Given the description of an element on the screen output the (x, y) to click on. 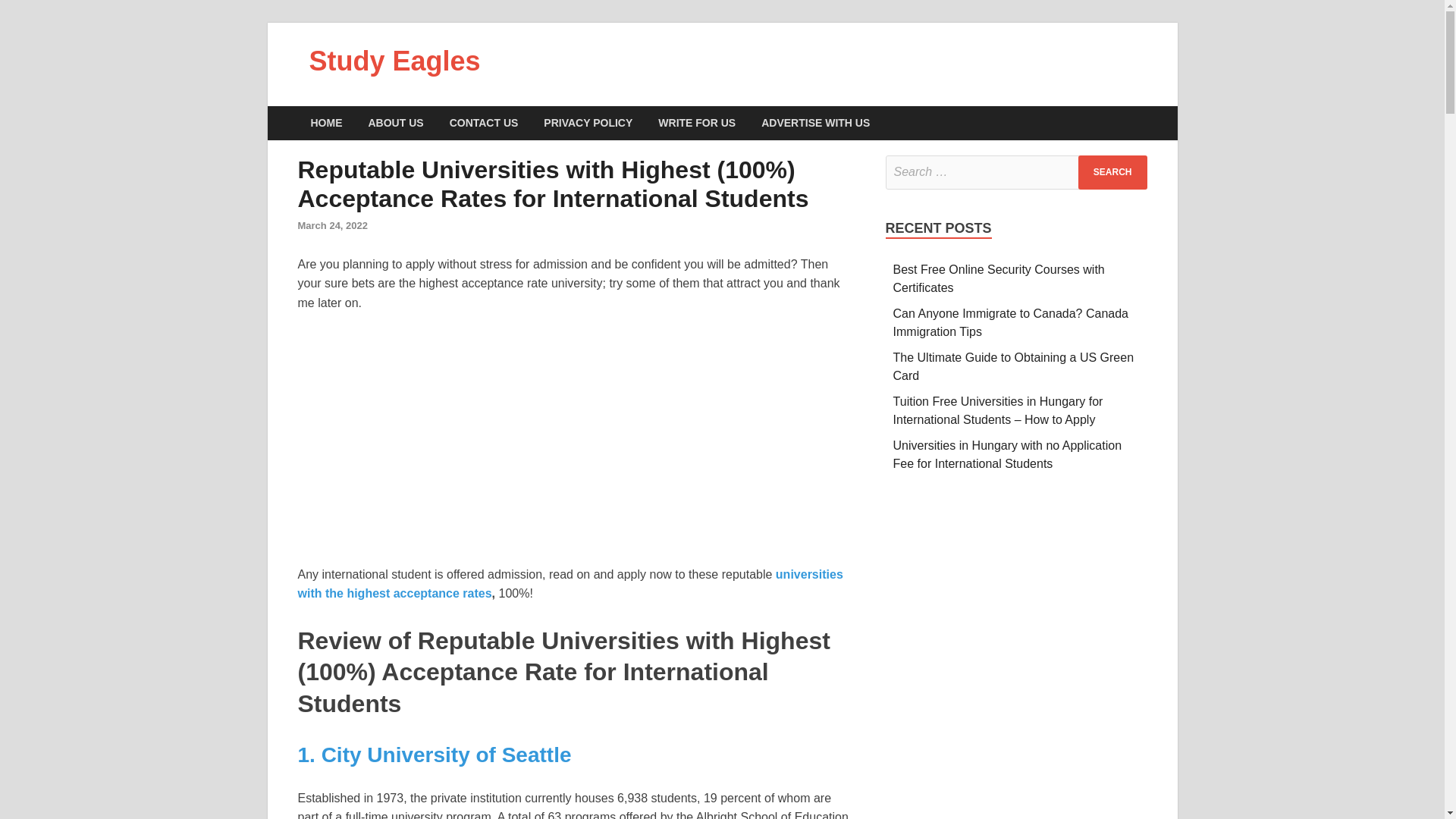
Best Free Online Security Courses with Certificates (999, 278)
Search (1112, 172)
ADVERTISE WITH US (815, 123)
universities with the highest acceptance rates (570, 584)
The Ultimate Guide to Obtaining a US Green Card (1013, 366)
Search (1112, 172)
March 24, 2022 (332, 225)
HOME (326, 123)
WRITE FOR US (696, 123)
